Given the description of an element on the screen output the (x, y) to click on. 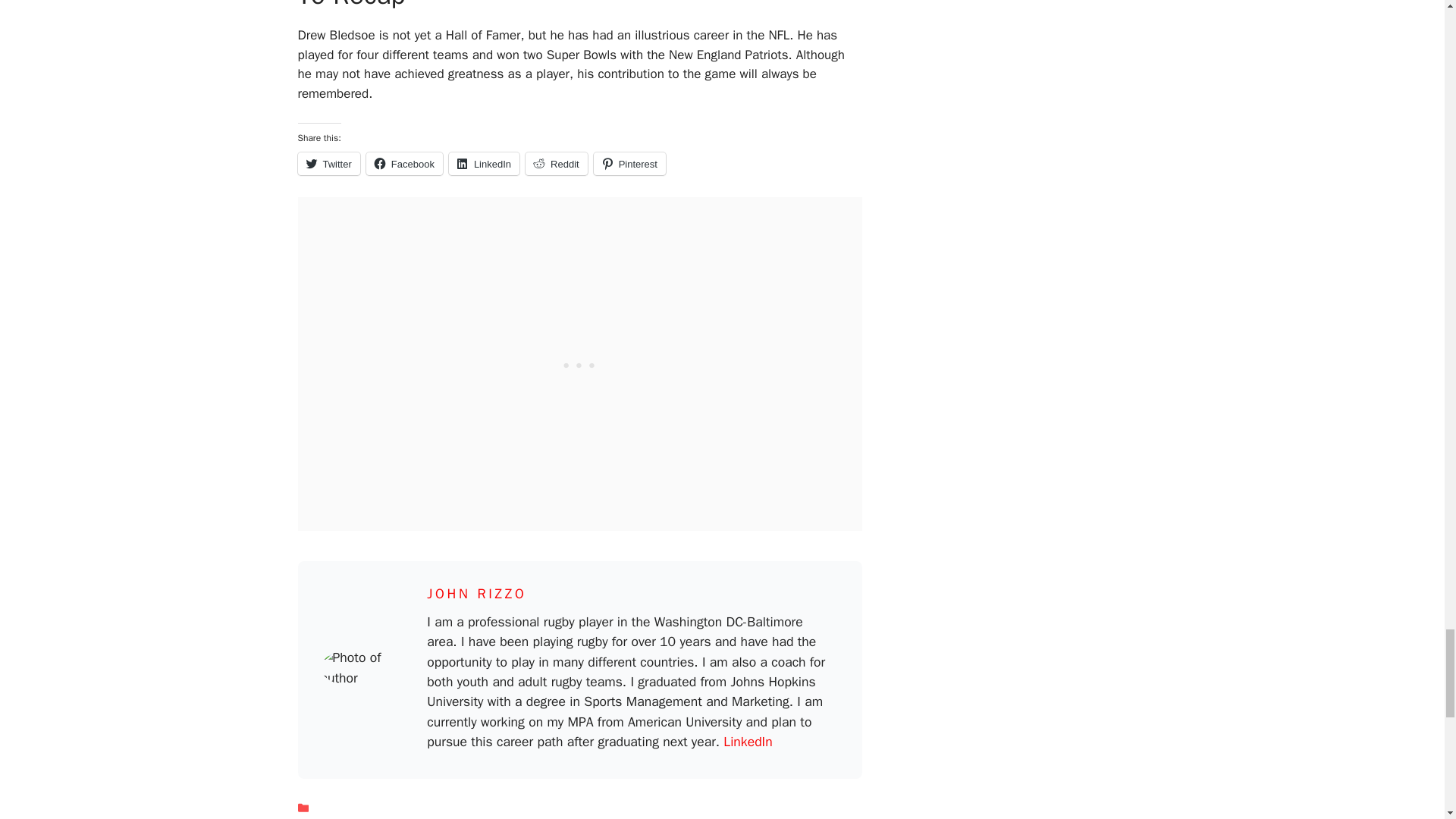
Twitter (328, 163)
LinkedIn (747, 741)
Click to share on Facebook (404, 163)
Click to share on Twitter (328, 163)
Click to share on Reddit (556, 163)
Pinterest (629, 163)
Reddit (556, 163)
Click to share on Pinterest (629, 163)
LinkedIn (483, 163)
Facebook (404, 163)
